Given the description of an element on the screen output the (x, y) to click on. 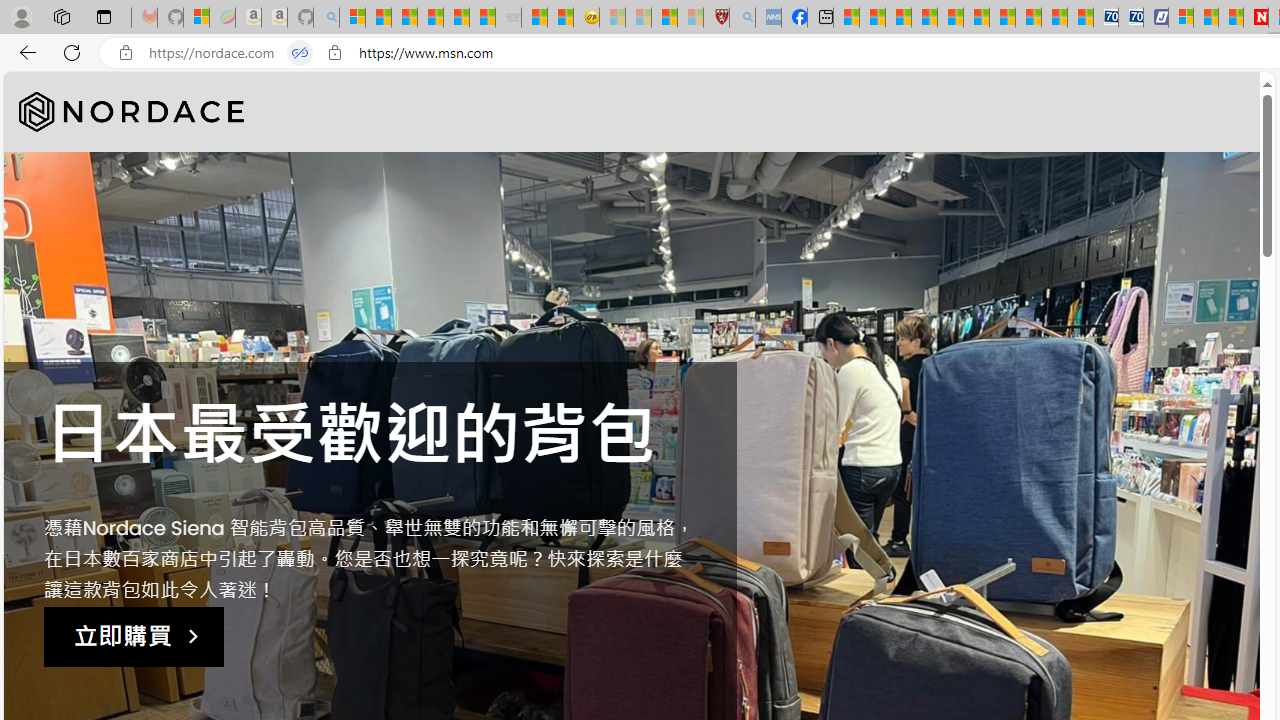
12 Popular Science Lies that Must be Corrected - Sleeping (690, 17)
